Given the description of an element on the screen output the (x, y) to click on. 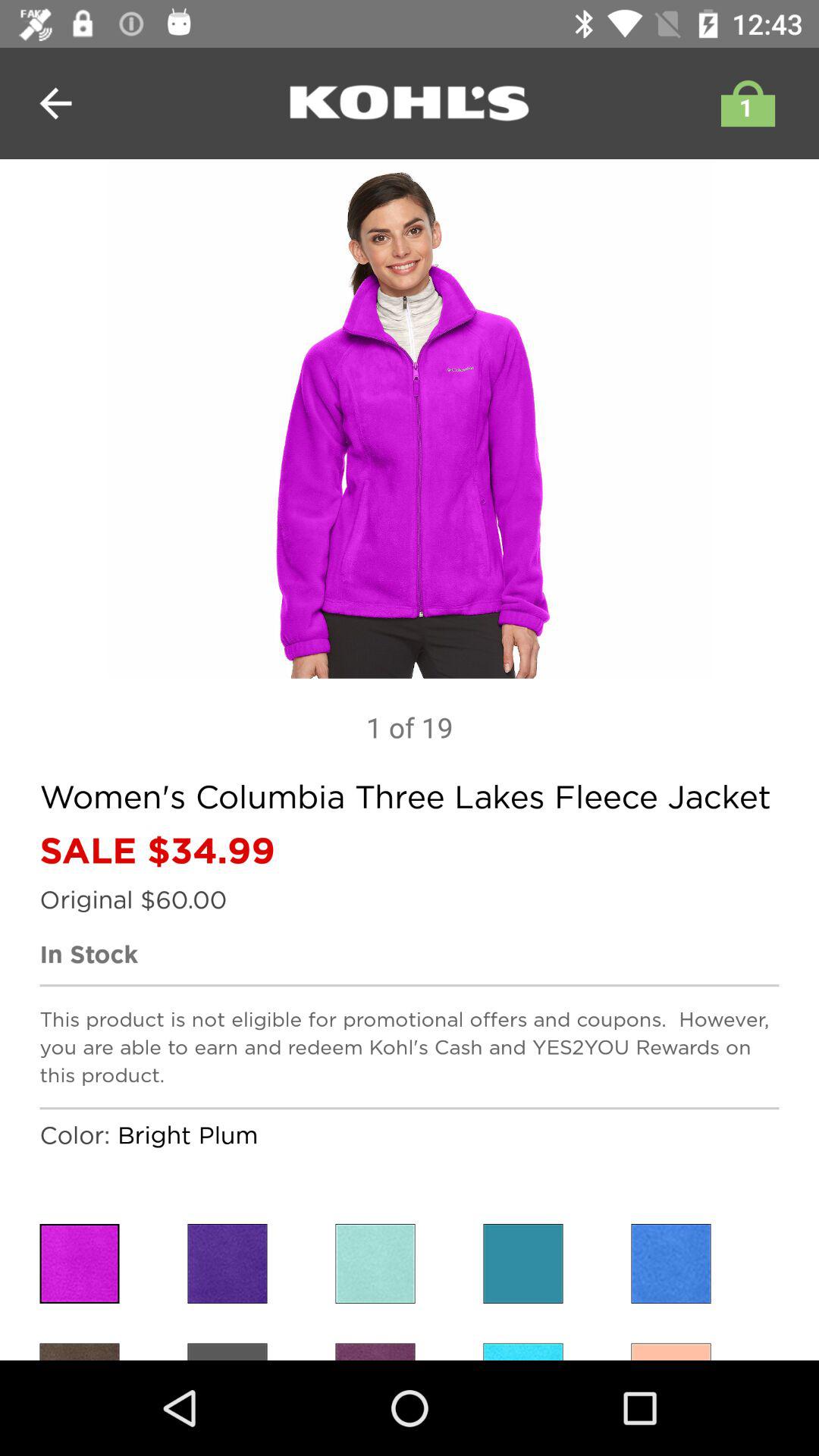
view item color (375, 1351)
